Given the description of an element on the screen output the (x, y) to click on. 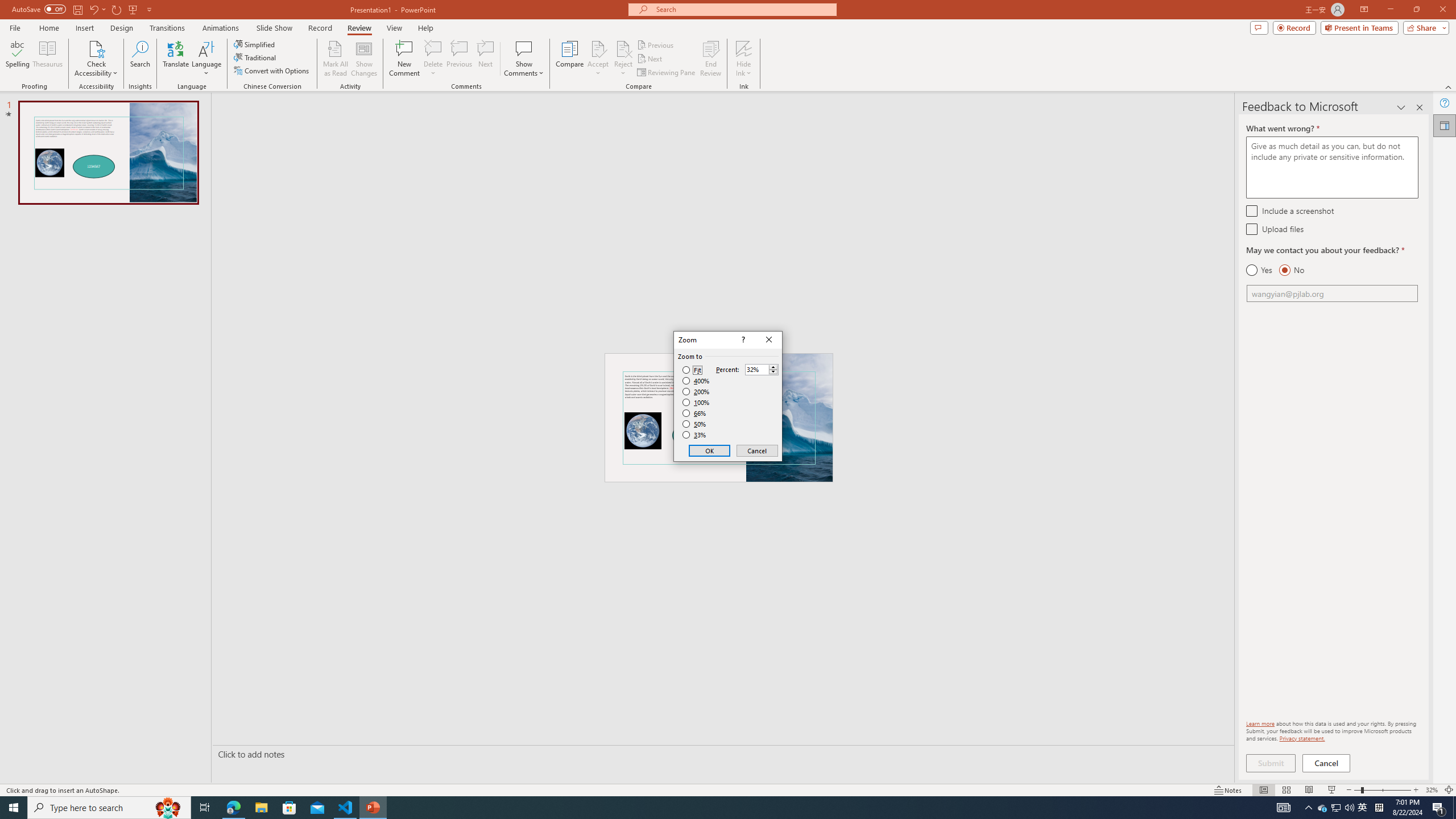
Reject Change (622, 48)
End Review (710, 58)
Spelling... (17, 58)
